Given the description of an element on the screen output the (x, y) to click on. 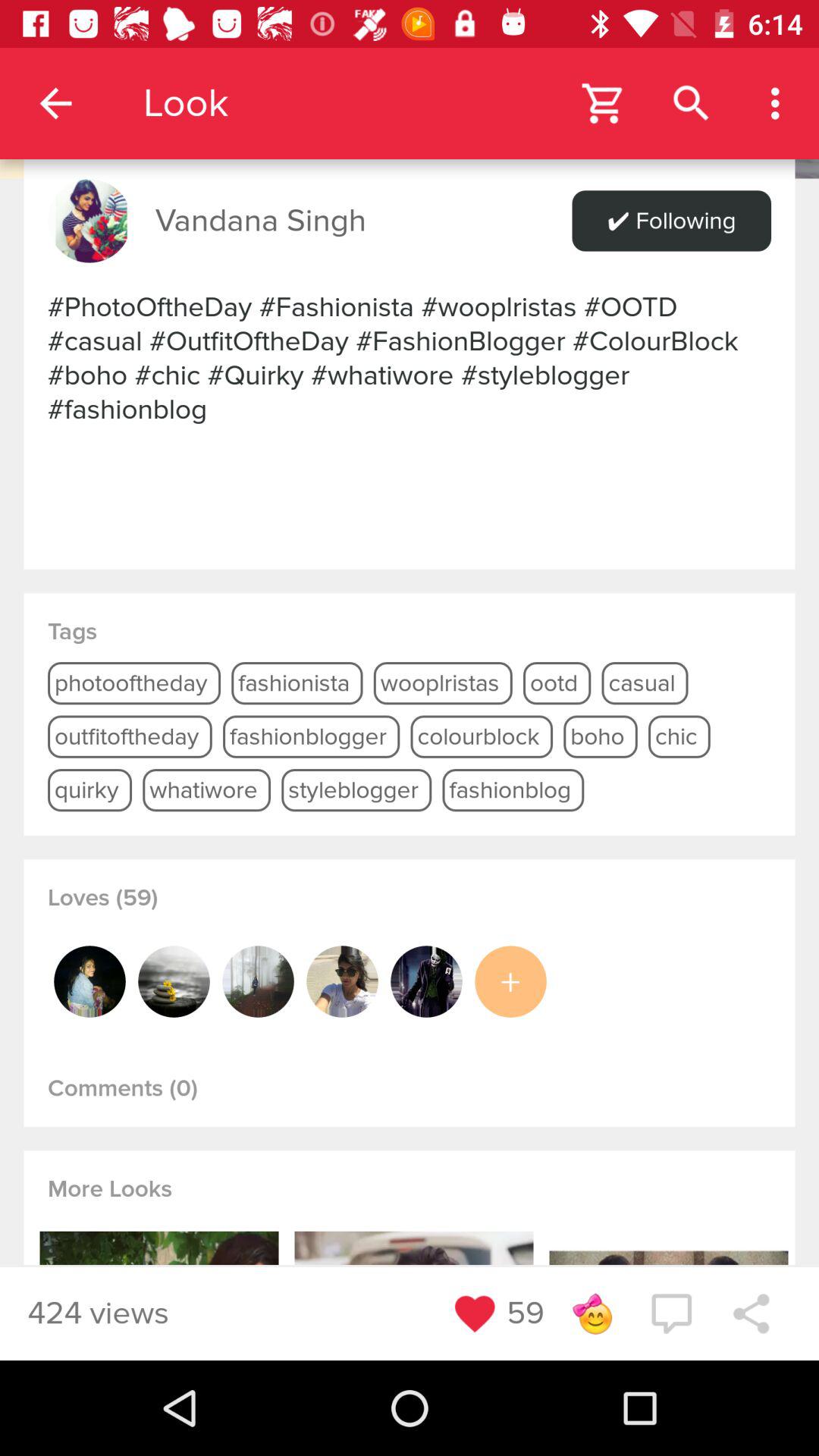
feeling via emoji option (591, 1313)
